Given the description of an element on the screen output the (x, y) to click on. 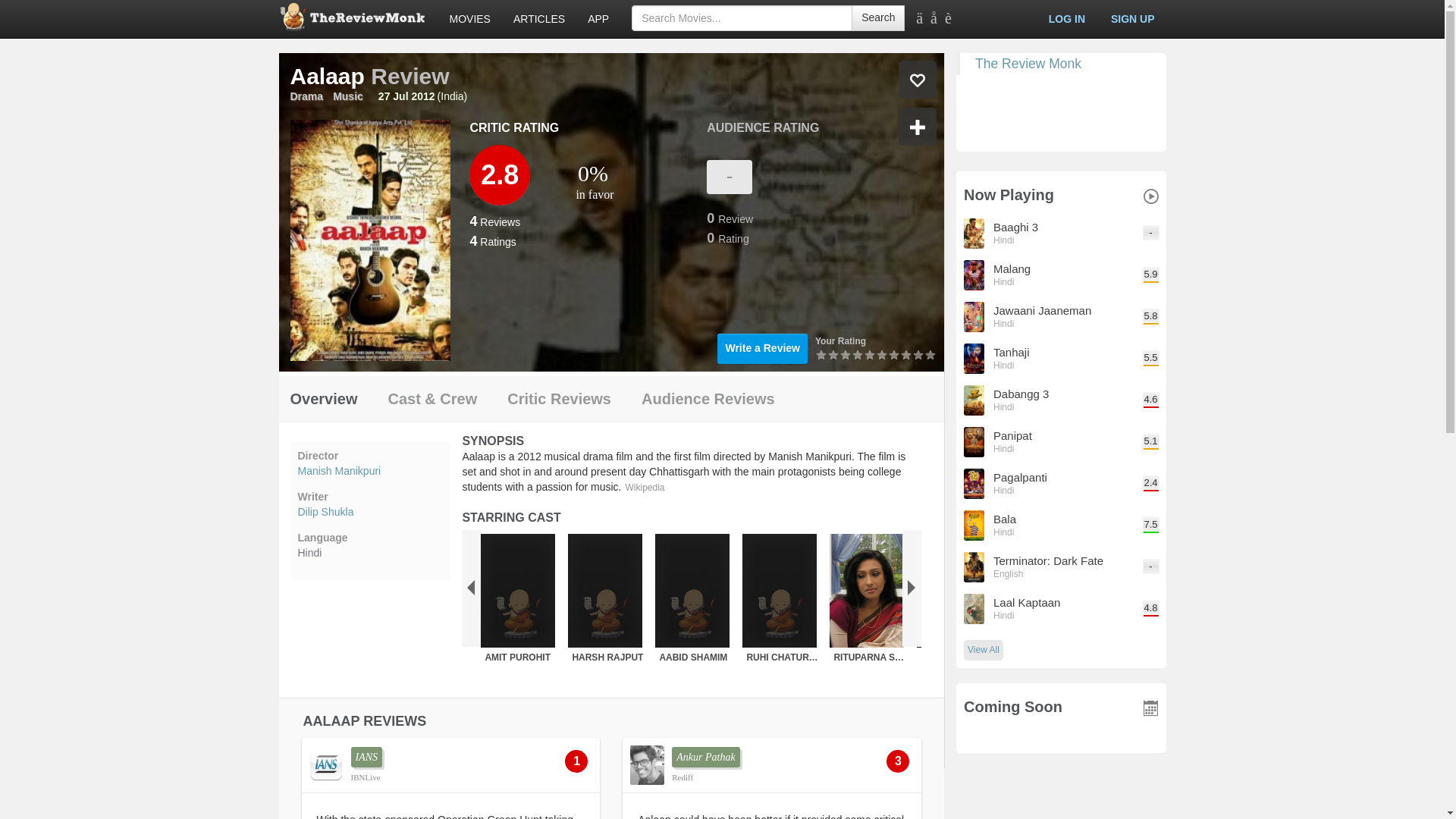
Music (347, 96)
Search for: (741, 17)
Manish Manikpuri (369, 470)
Write a Review (762, 348)
LOG IN (1066, 18)
MOVIES (470, 18)
Drama (306, 96)
Dilip Shukla (369, 511)
SIGN UP (1132, 18)
APP (598, 18)
ARTICLES (539, 18)
Search (877, 17)
